Given the description of an element on the screen output the (x, y) to click on. 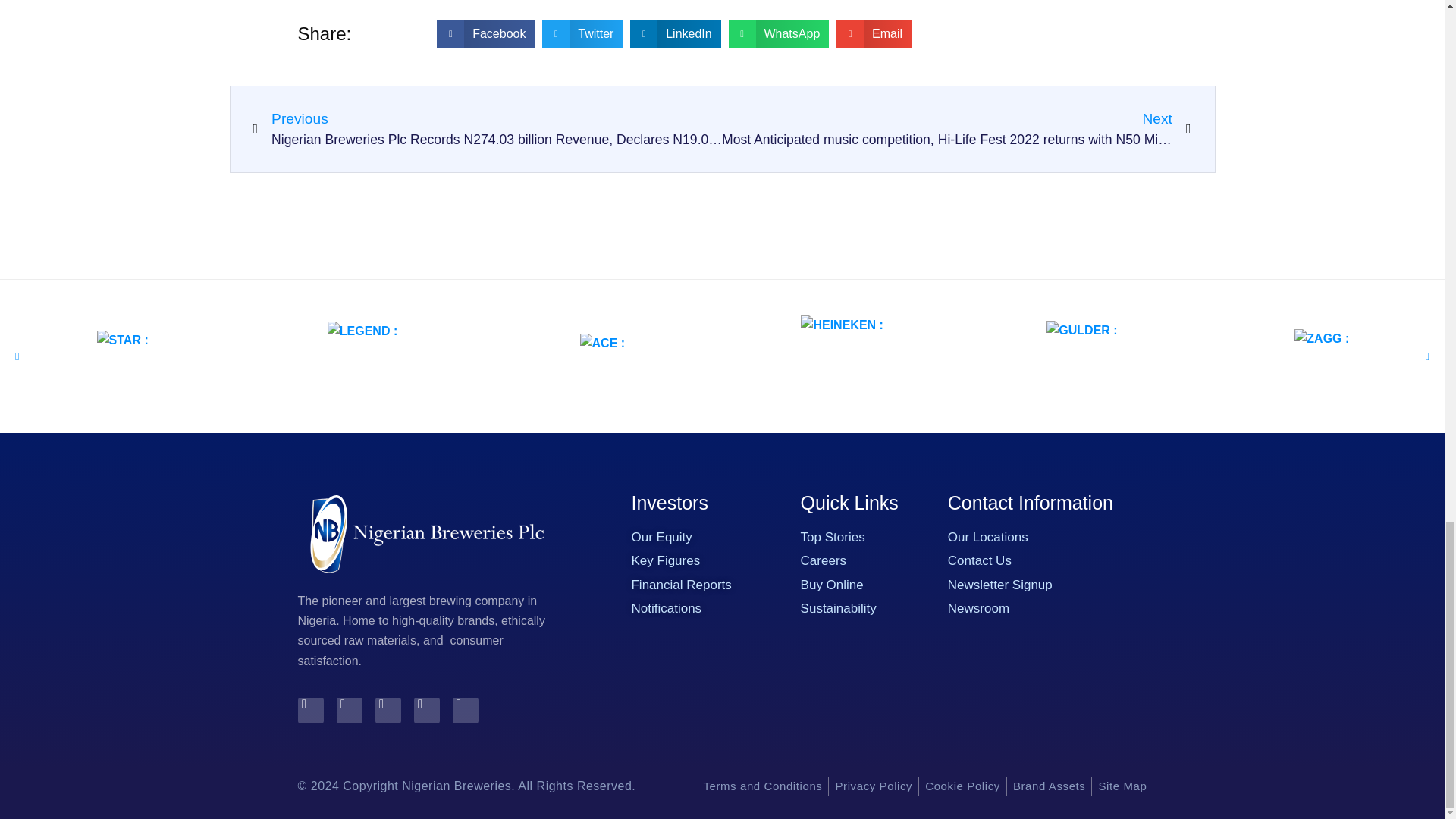
ZAGG (1315, 356)
ACE (596, 356)
HEINEKEN (836, 356)
STAR (117, 356)
LEGEND (355, 356)
GULDER (1075, 356)
